Given the description of an element on the screen output the (x, y) to click on. 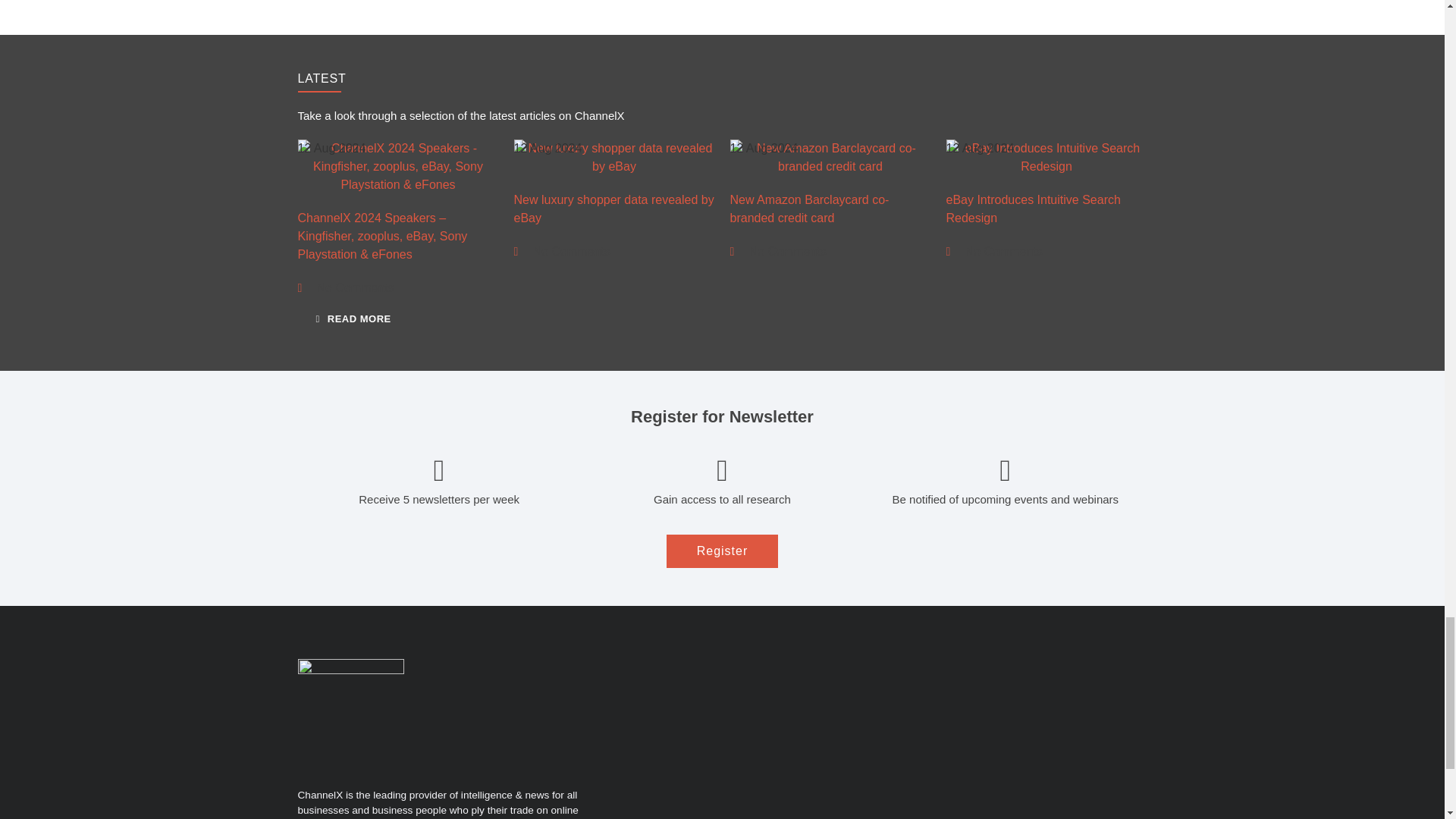
New luxury shopper data revealed by eBay (613, 157)
New Amazon Barclaycard co-branded credit card (829, 157)
eBay Introduces Intuitive Search Redesign (1046, 157)
